Given the description of an element on the screen output the (x, y) to click on. 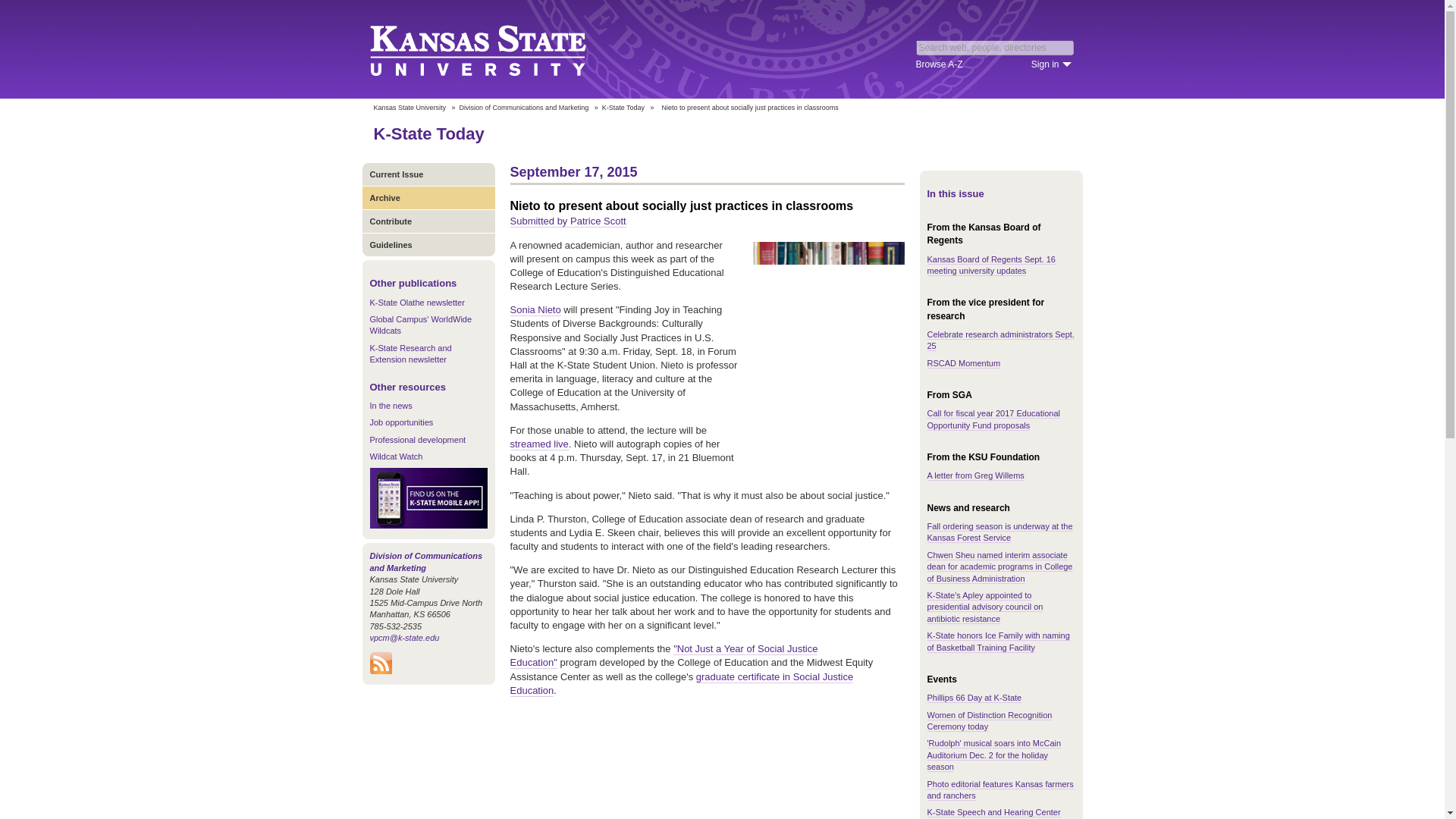
"Not Just a Year of Social Justice Education" (662, 655)
Job opportunities (401, 421)
Division of Communications and Marketing (426, 561)
Current Issue (428, 173)
Sonia Nieto (534, 309)
Guidelines (428, 244)
K-State Today (427, 133)
Division of Communications and Marketing (524, 107)
Search web, people, directories (994, 47)
K-State Research and Extension newsletter (410, 353)
K-State Olathe newsletter (416, 302)
Global Campus' WorldWide Wildcats (420, 324)
